Given the description of an element on the screen output the (x, y) to click on. 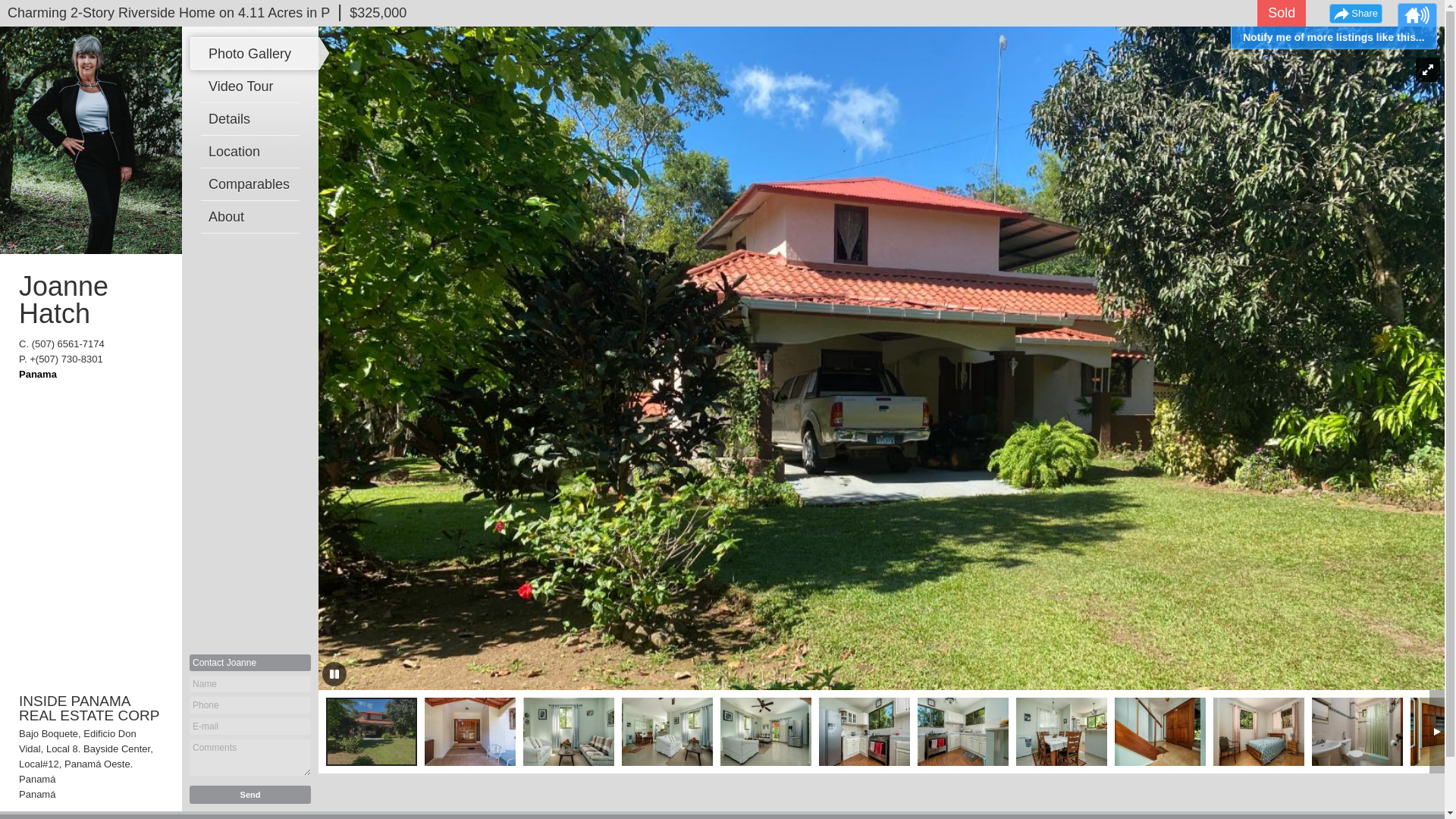
Send (250, 794)
Share (1355, 13)
Panama (37, 374)
Comparables (253, 183)
Share this listing (1355, 13)
Photo Gallery (253, 53)
Details (253, 119)
Location (253, 151)
Video Tour (253, 86)
Visit website.. (37, 374)
About (253, 216)
